Given the description of an element on the screen output the (x, y) to click on. 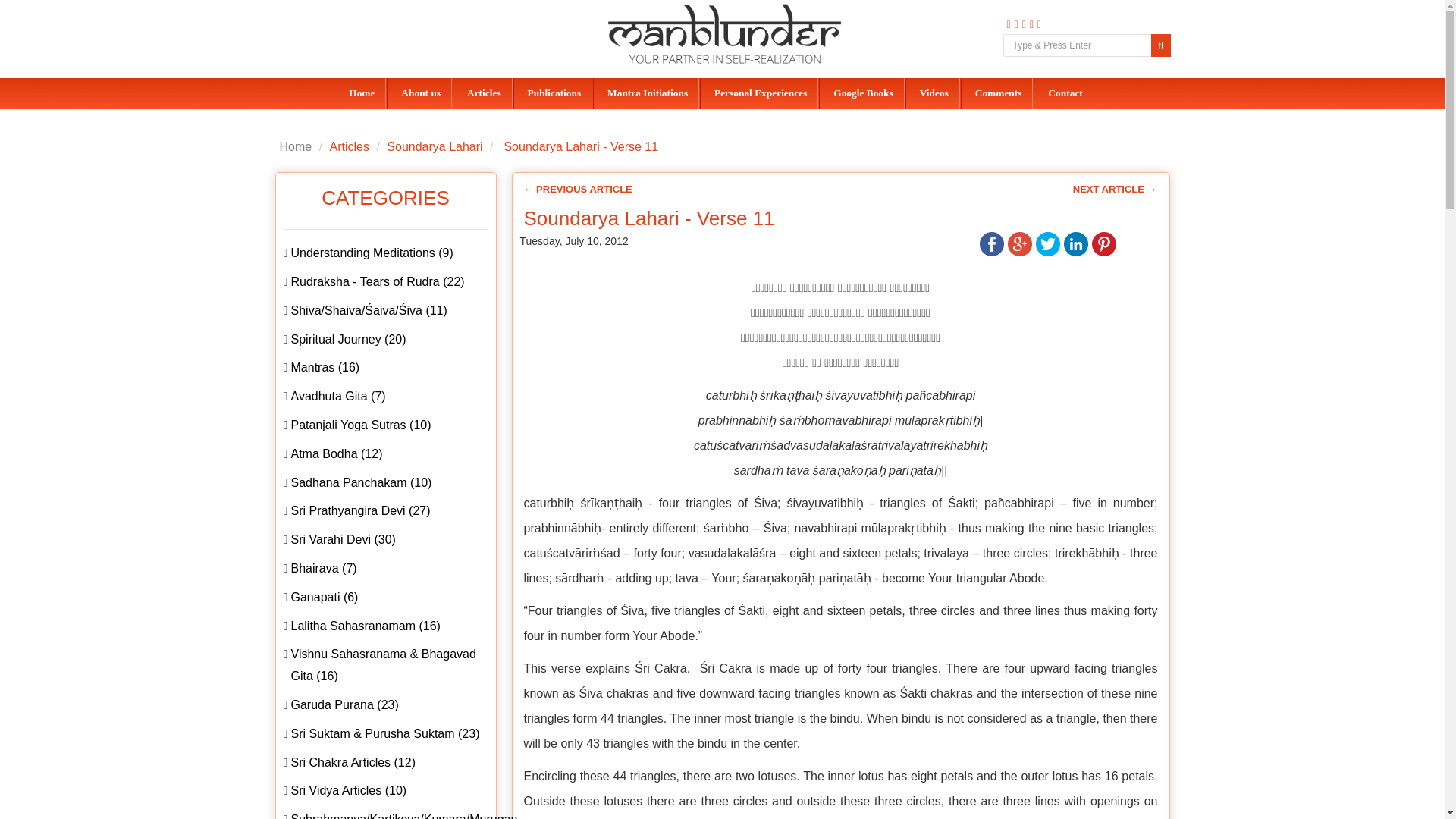
Videos (932, 92)
Google Books (861, 92)
Personal Experiences (758, 92)
About us (419, 92)
Home (295, 145)
Contact (1063, 92)
manblunder logo (723, 34)
Publications (552, 92)
Articles (482, 92)
Mantra Initiations (646, 92)
Home (367, 92)
Comments (996, 92)
Articles (349, 145)
Soundarya Lahari (434, 145)
